Given the description of an element on the screen output the (x, y) to click on. 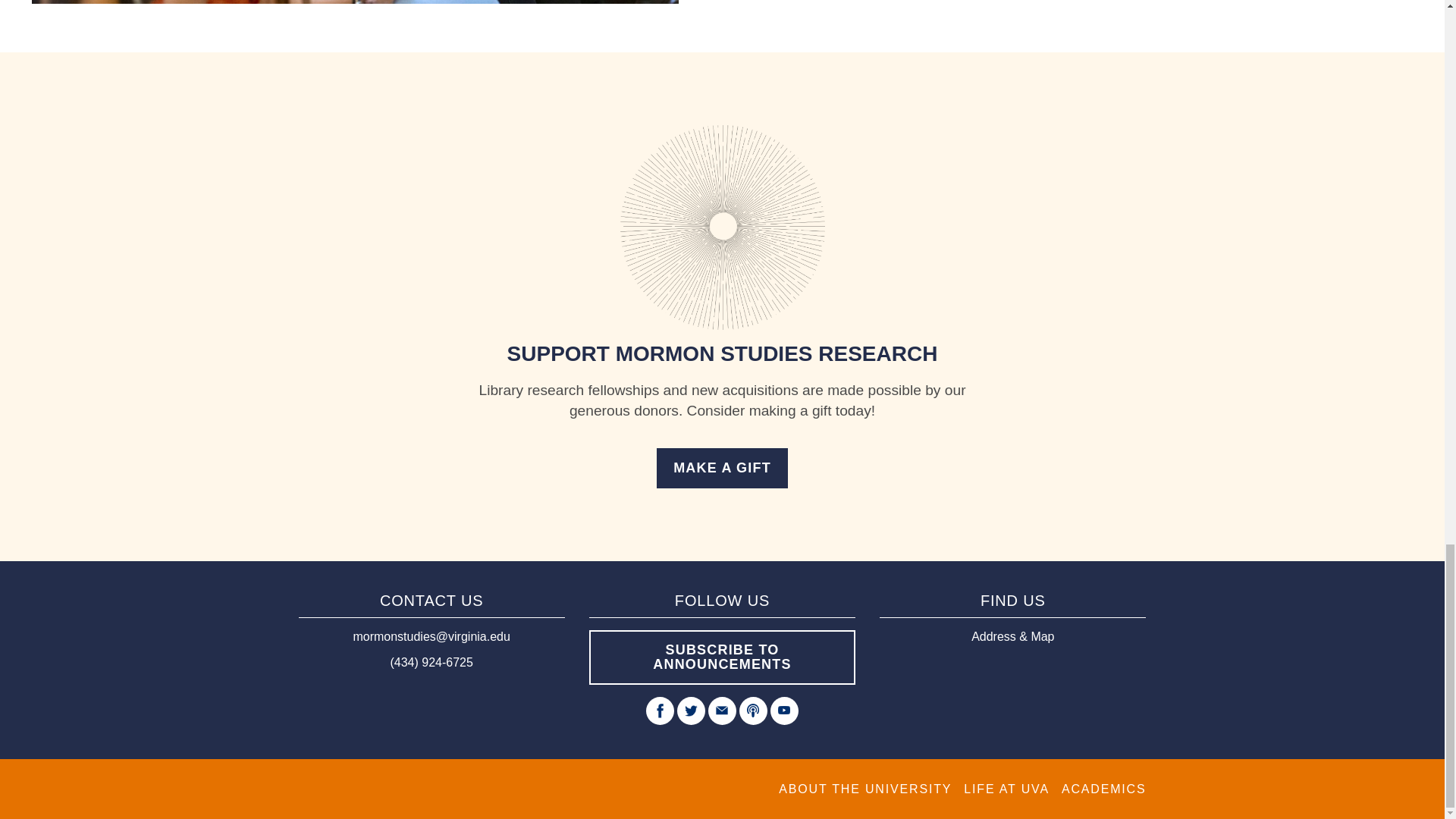
MAKE A GIFT (721, 467)
SUBSCRIBE TO ANNOUNCEMENTS (722, 656)
facebook (660, 710)
